Given the description of an element on the screen output the (x, y) to click on. 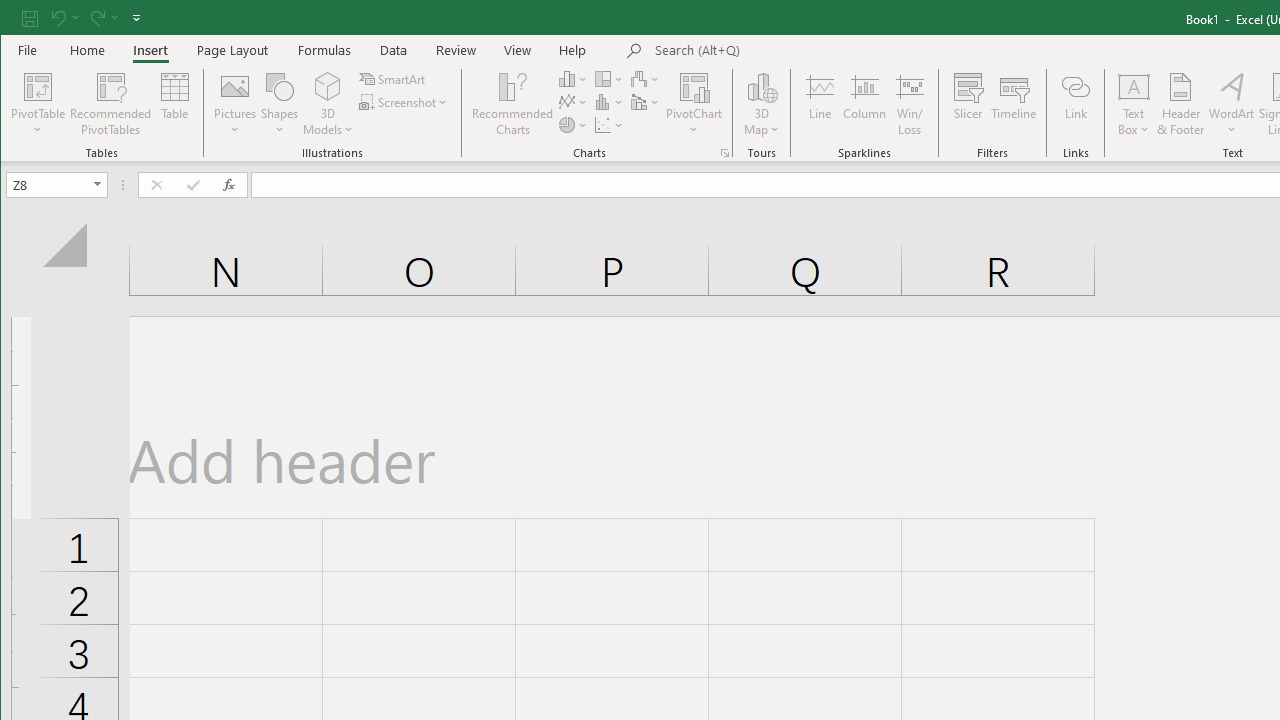
PivotChart (694, 104)
Draw Horizontal Text Box (1133, 86)
PivotTable (37, 104)
Link (1075, 104)
PivotChart (694, 86)
Insert Waterfall, Funnel, Stock, Surface, or Radar Chart (646, 78)
Column (864, 104)
PivotTable (37, 86)
Insert Pie or Doughnut Chart (573, 124)
Insert Scatter (X, Y) or Bubble Chart (609, 124)
Header & Footer... (1180, 104)
